Given the description of an element on the screen output the (x, y) to click on. 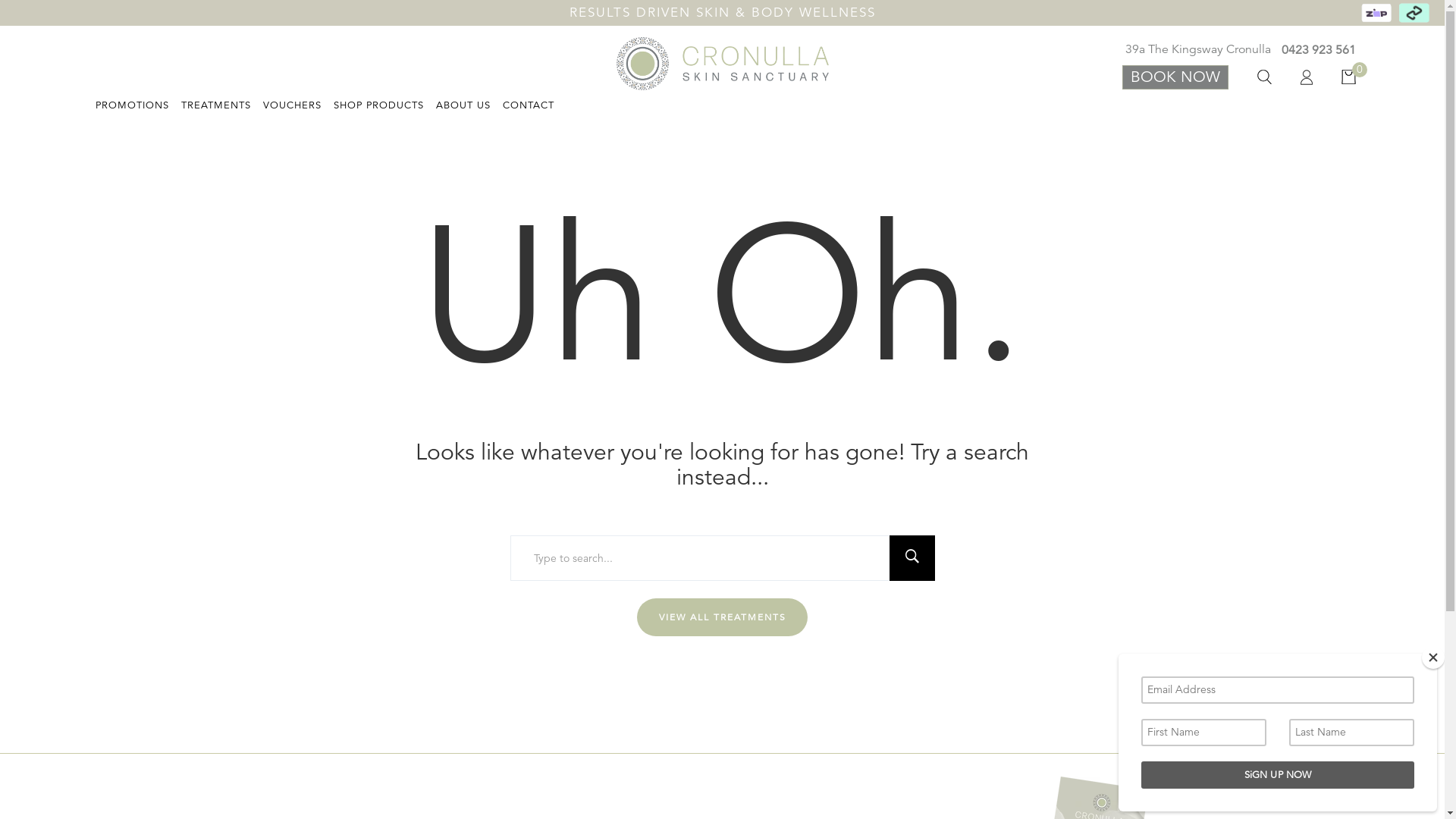
SiGN UP NOW Element type: text (1277, 774)
0423 923 561 Element type: text (1314, 50)
PROMOTIONS Element type: text (132, 103)
TREATMENTS Element type: text (215, 103)
ABOUT US Element type: text (462, 103)
0 Element type: text (1334, 76)
VIEW ALL TREATMENTS Element type: text (722, 616)
CONTACT Element type: text (527, 103)
BOOK NOW Element type: text (1175, 77)
SHOP PRODUCTS Element type: text (378, 103)
VOUCHERS Element type: text (291, 103)
